Given the description of an element on the screen output the (x, y) to click on. 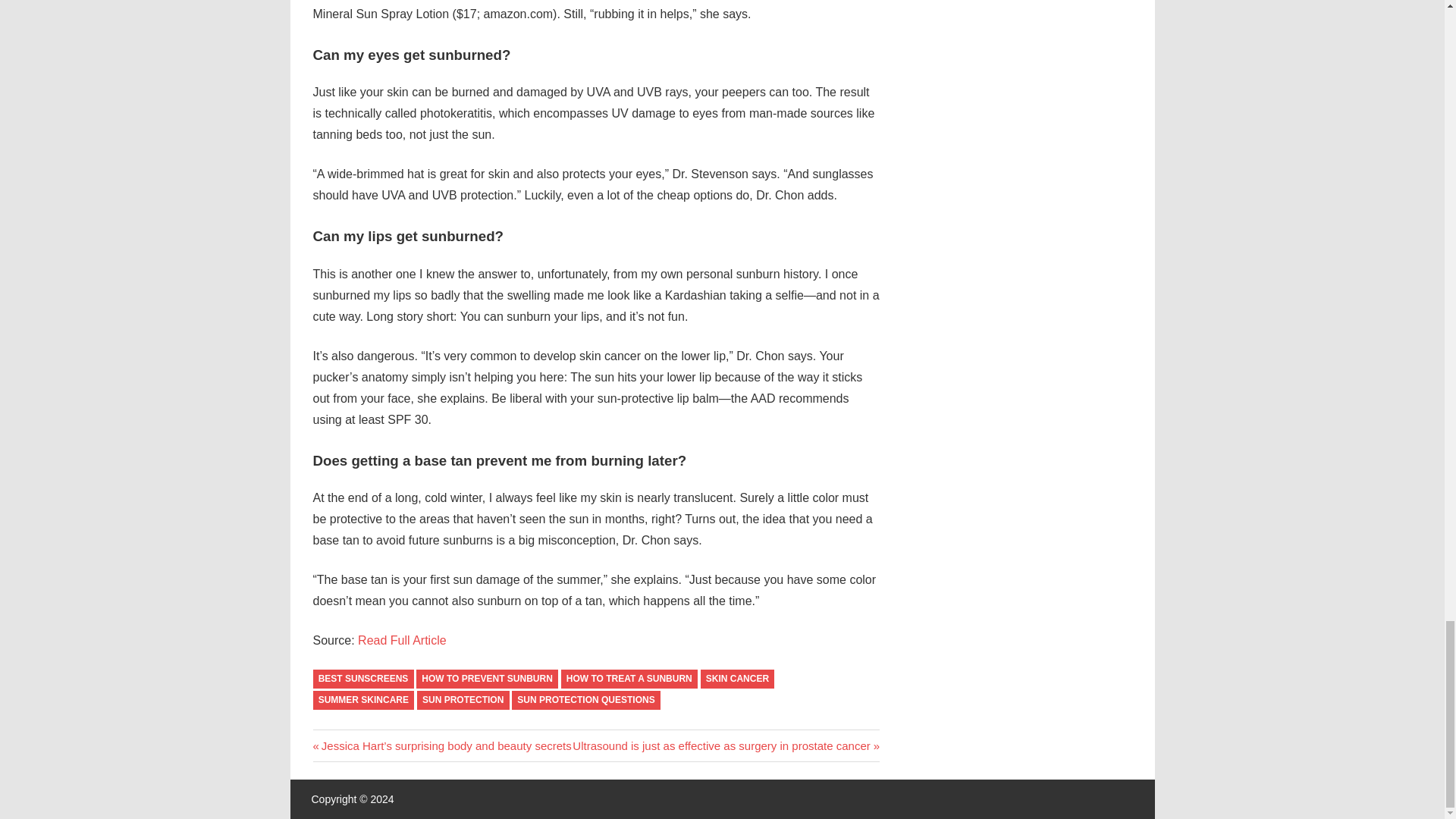
SUN PROTECTION QUESTIONS (586, 700)
SUMMER SKINCARE (363, 700)
HOW TO PREVENT SUNBURN (486, 678)
BEST SUNSCREENS (363, 678)
Read Full Article (402, 640)
HOW TO TREAT A SUNBURN (628, 678)
SUN PROTECTION (462, 700)
SKIN CANCER (737, 678)
